Given the description of an element on the screen output the (x, y) to click on. 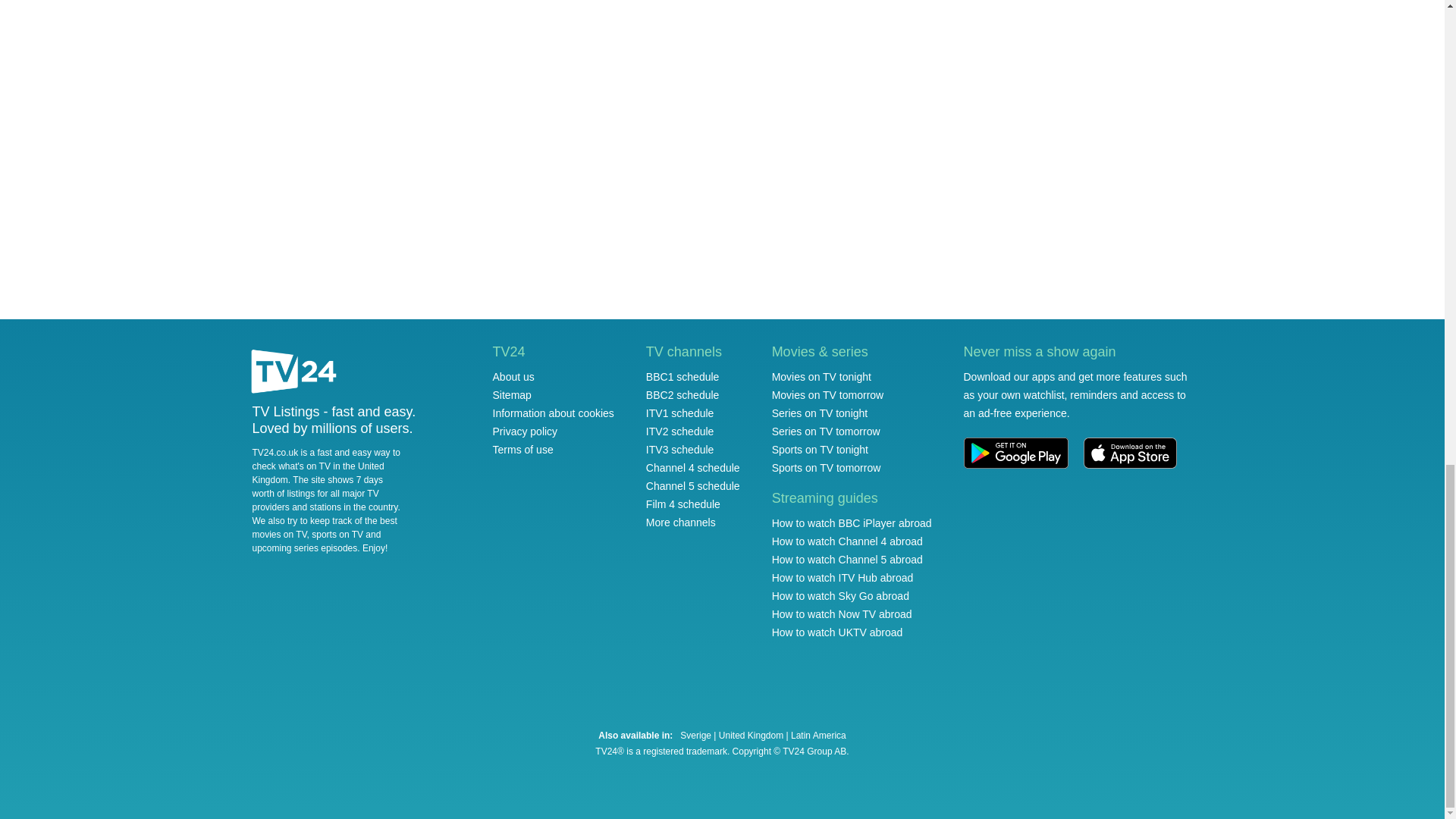
ITV1 schedule (680, 413)
the best movies on TV (323, 527)
sports on TV (336, 534)
BBC1 schedule (682, 377)
ITV3 schedule (680, 449)
Sitemap (512, 395)
Information about cookies (553, 413)
Channel 5 schedule (692, 485)
Channel 5 schedule (692, 485)
More channels (681, 522)
